Given the description of an element on the screen output the (x, y) to click on. 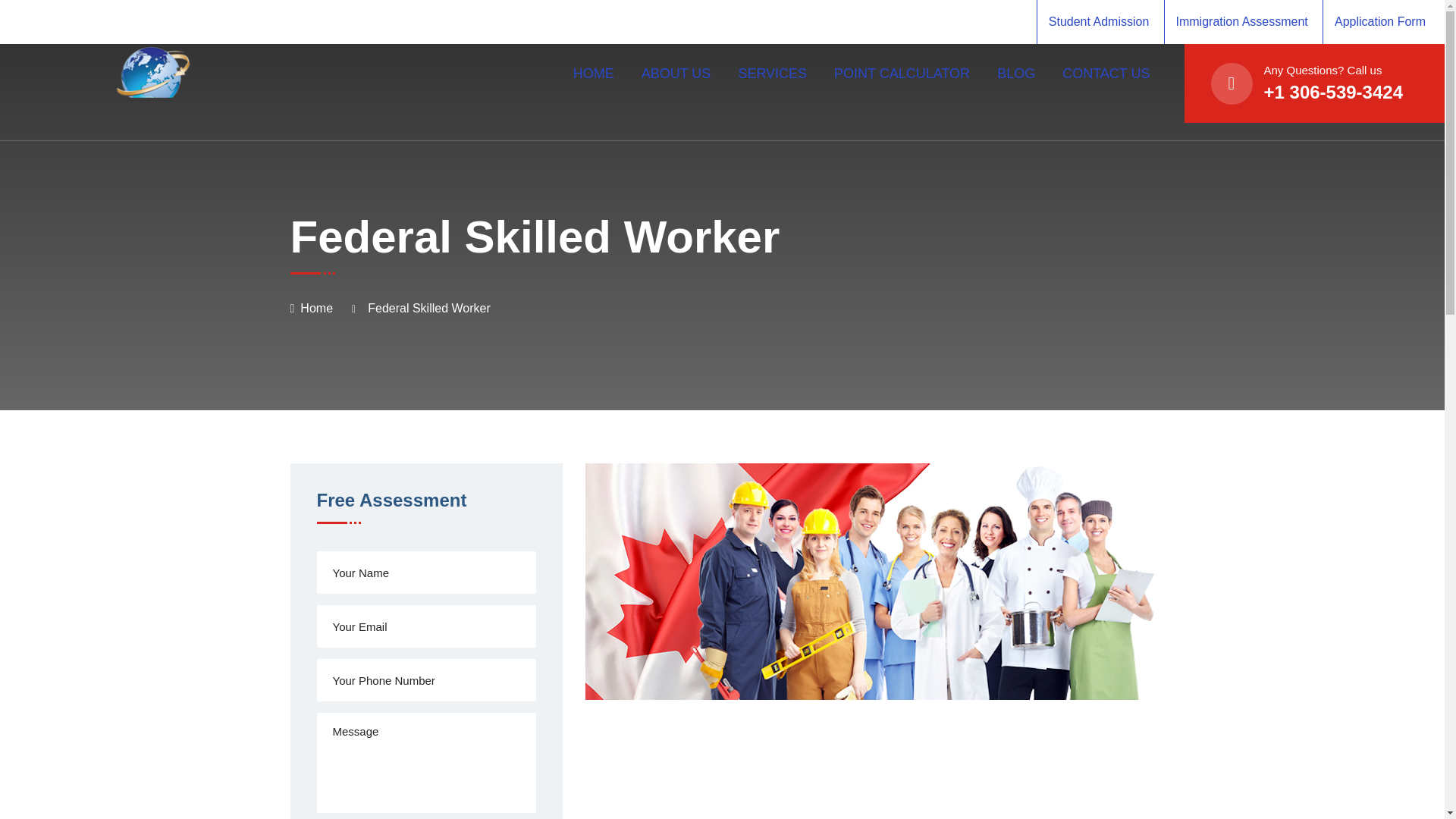
HOME (593, 73)
Student Admission (1099, 21)
Home (316, 308)
ABOUT US (676, 73)
POINT CALCULATOR (901, 73)
BLOG (1016, 73)
SERVICES (772, 73)
CONTACT US (1106, 73)
Immigration Assessment (1240, 21)
Application Form (1380, 21)
